Given the description of an element on the screen output the (x, y) to click on. 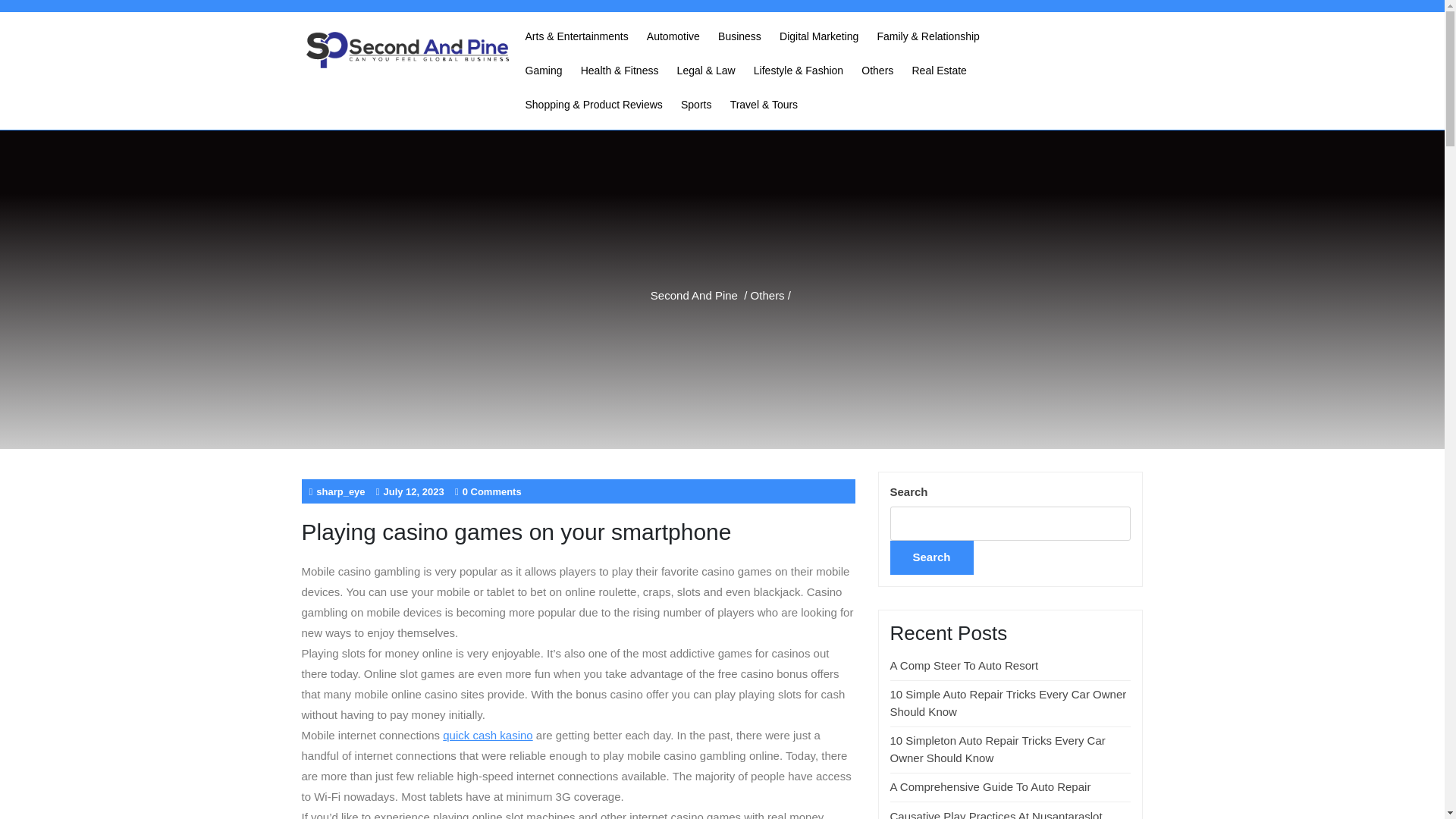
Search (931, 557)
Real Estate (939, 70)
Gaming (542, 70)
Sports (695, 104)
Others (767, 294)
quick cash kasino (487, 735)
Digital Marketing (818, 36)
Second And Pine (694, 294)
A Comprehensive Guide To Auto Repair (989, 786)
10 Simple Auto Repair Tricks Every Car Owner Should Know (1007, 702)
Automotive (673, 36)
Others (877, 70)
Causative Play Practices At Nusantaraslot (995, 814)
A Comp Steer To Auto Resort (964, 665)
Business (739, 36)
